Given the description of an element on the screen output the (x, y) to click on. 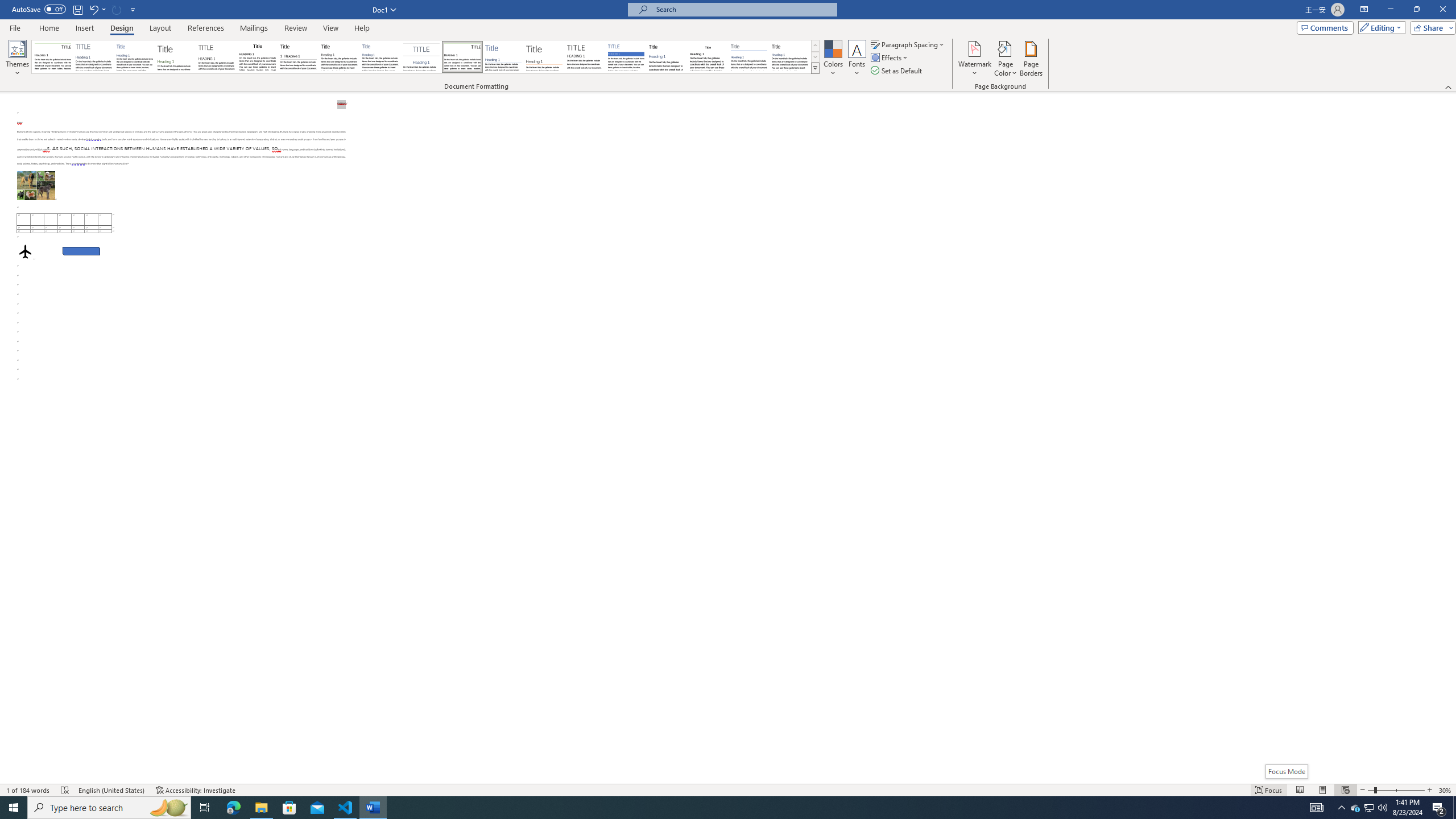
Page Color (1005, 58)
Word (666, 56)
Style Set (814, 67)
Themes (17, 58)
Undo Apply Quick Style Set (96, 9)
Black & White (Capitalized) (216, 56)
Zoom 30% (1445, 790)
Basic (Elegant) (93, 56)
